Given the description of an element on the screen output the (x, y) to click on. 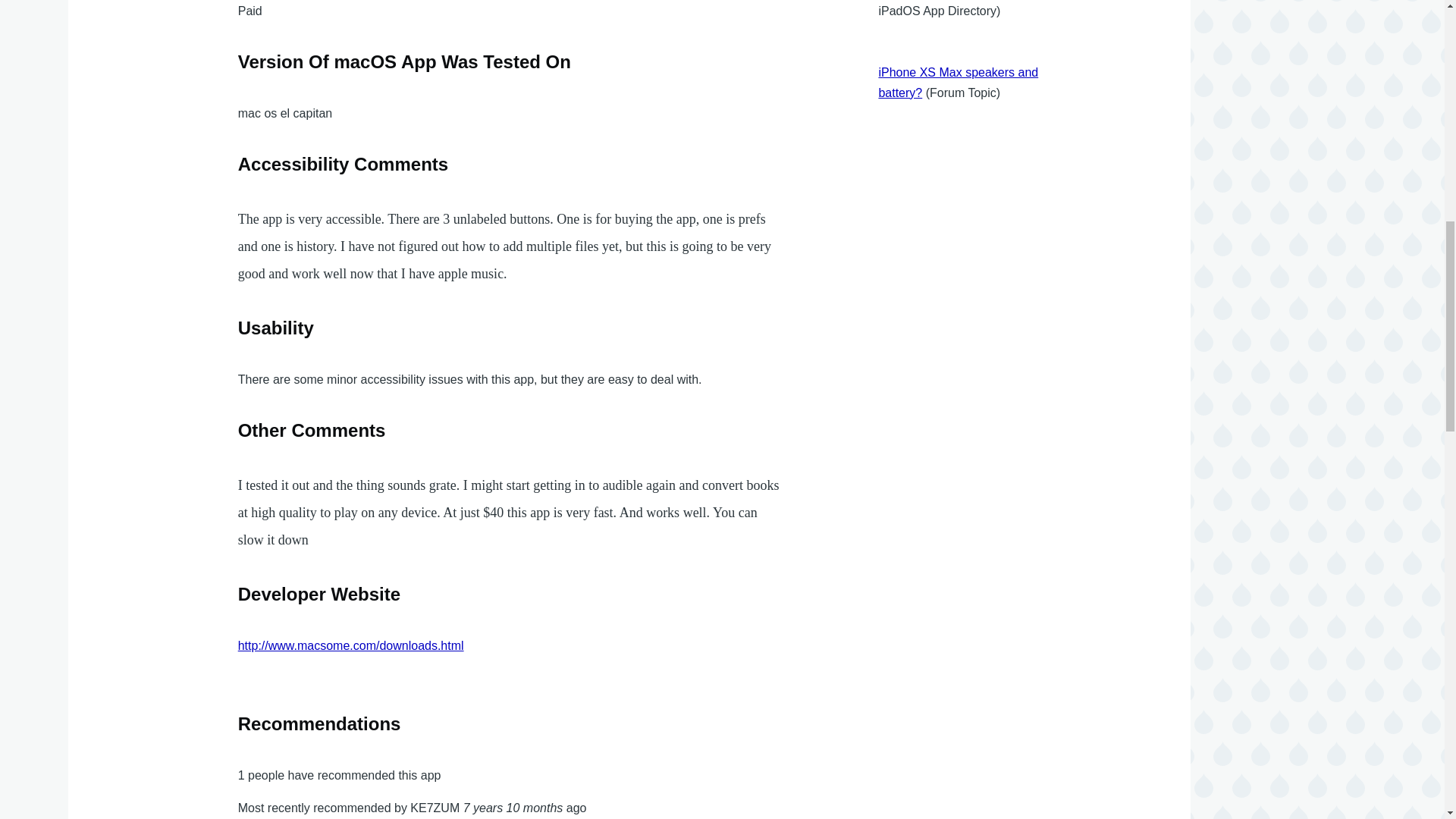
iPhone XS Max speakers and battery? (957, 82)
